Given the description of an element on the screen output the (x, y) to click on. 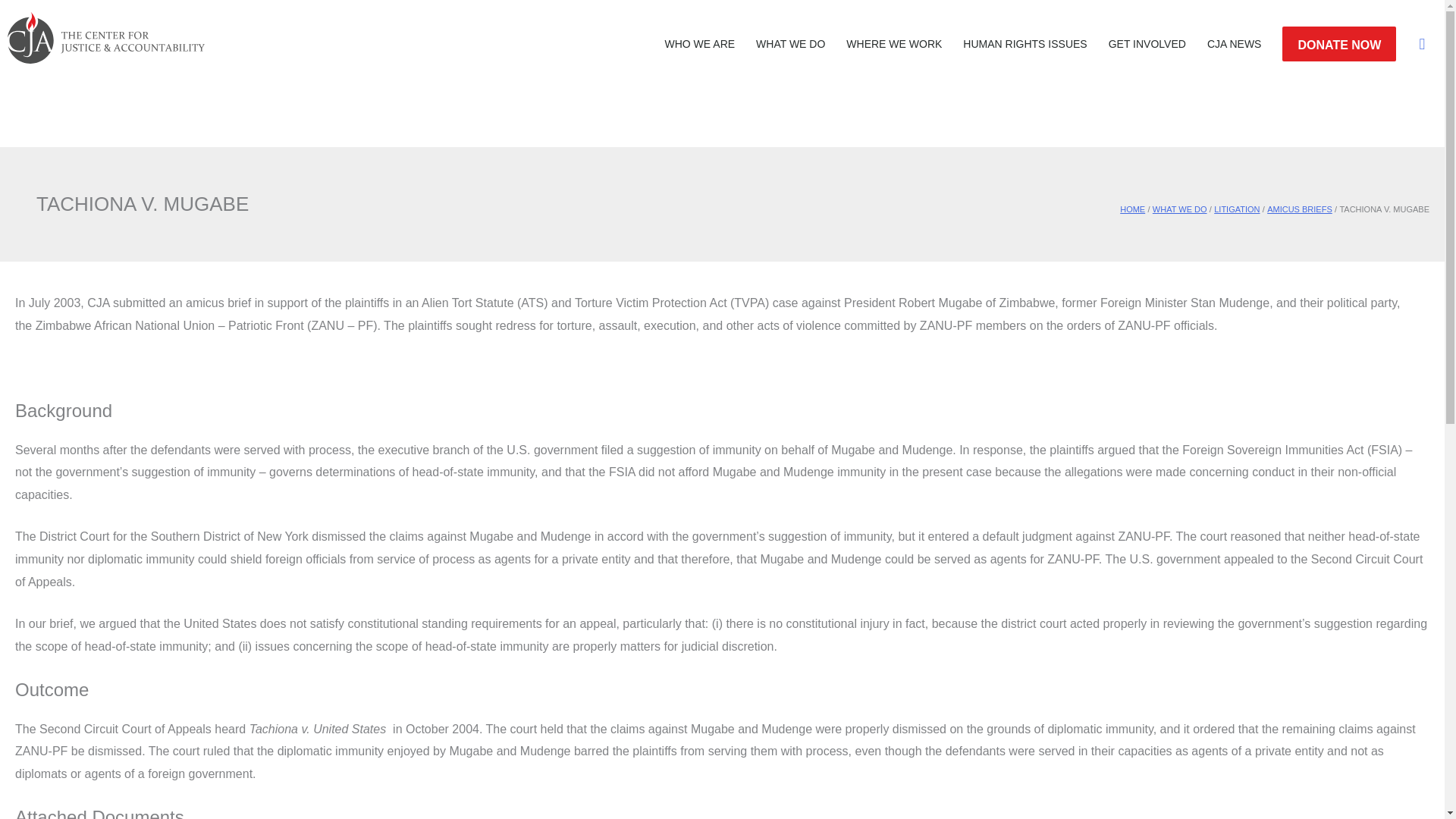
HUMAN RIGHTS ISSUES (1024, 44)
WHO WE ARE (699, 44)
WHAT WE DO (790, 44)
WHERE WE WORK (893, 44)
